Given the description of an element on the screen output the (x, y) to click on. 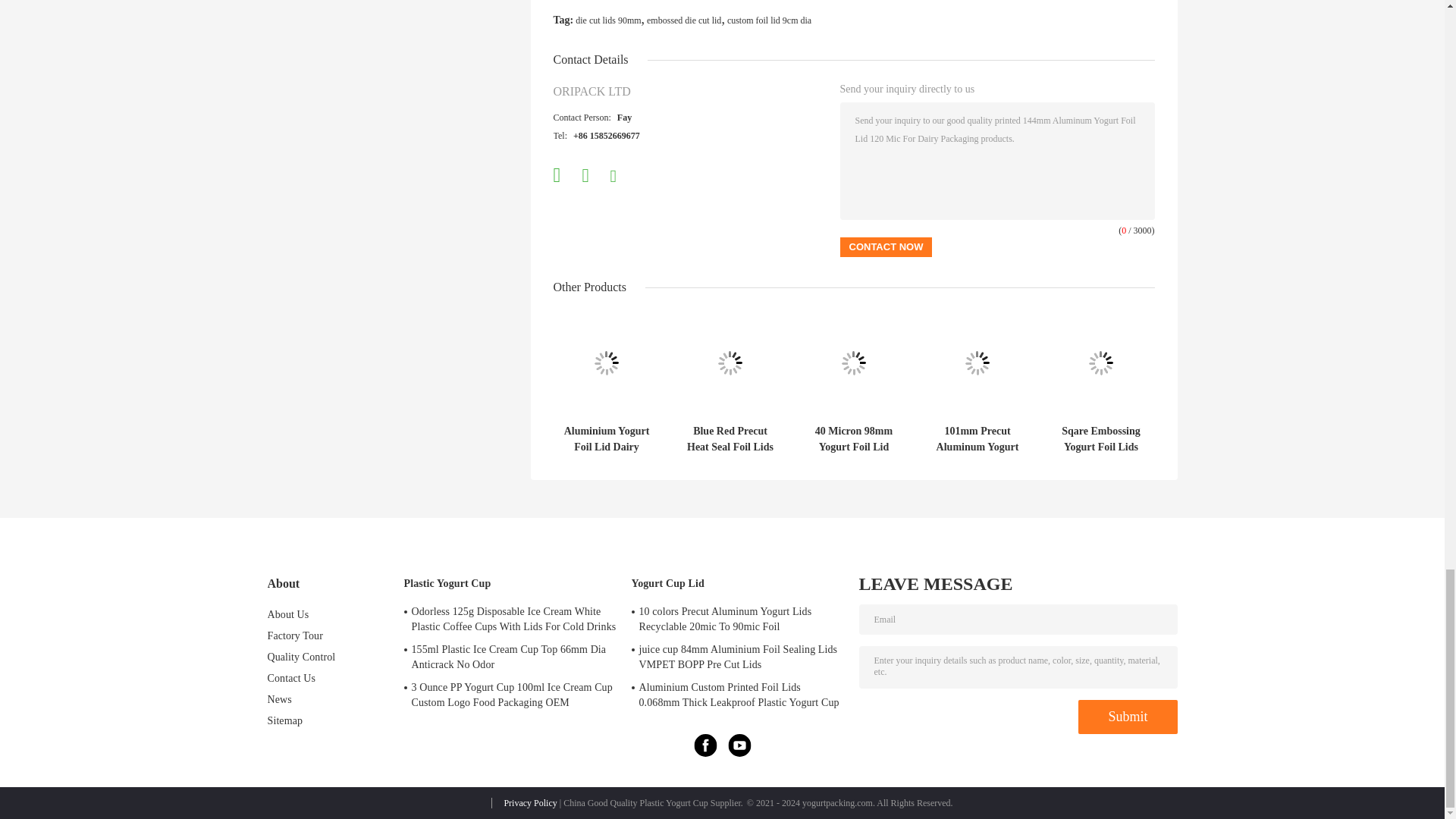
Contact Now (886, 247)
Submit (1127, 716)
